Given the description of an element on the screen output the (x, y) to click on. 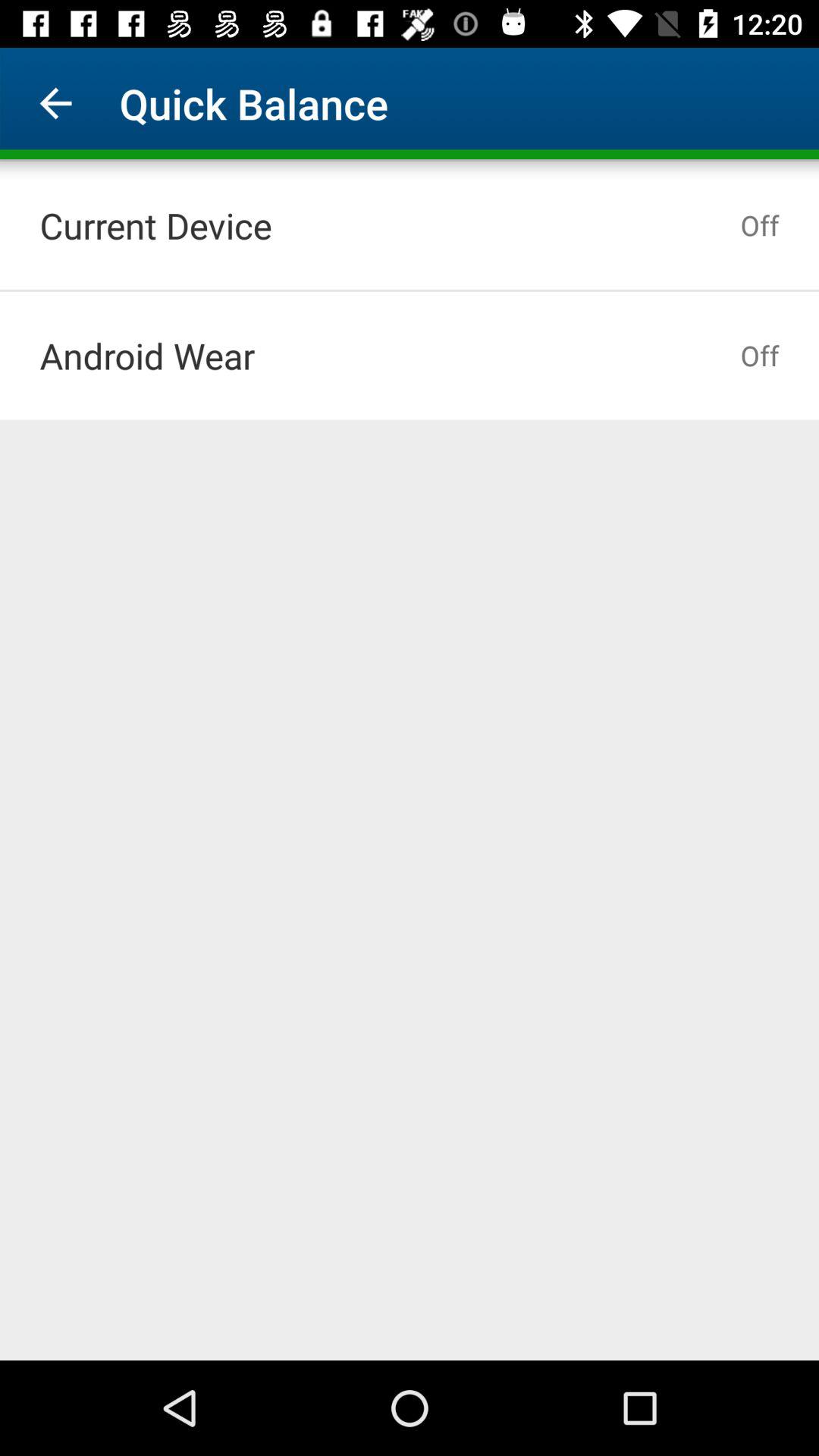
open the app next to quick balance app (55, 103)
